Given the description of an element on the screen output the (x, y) to click on. 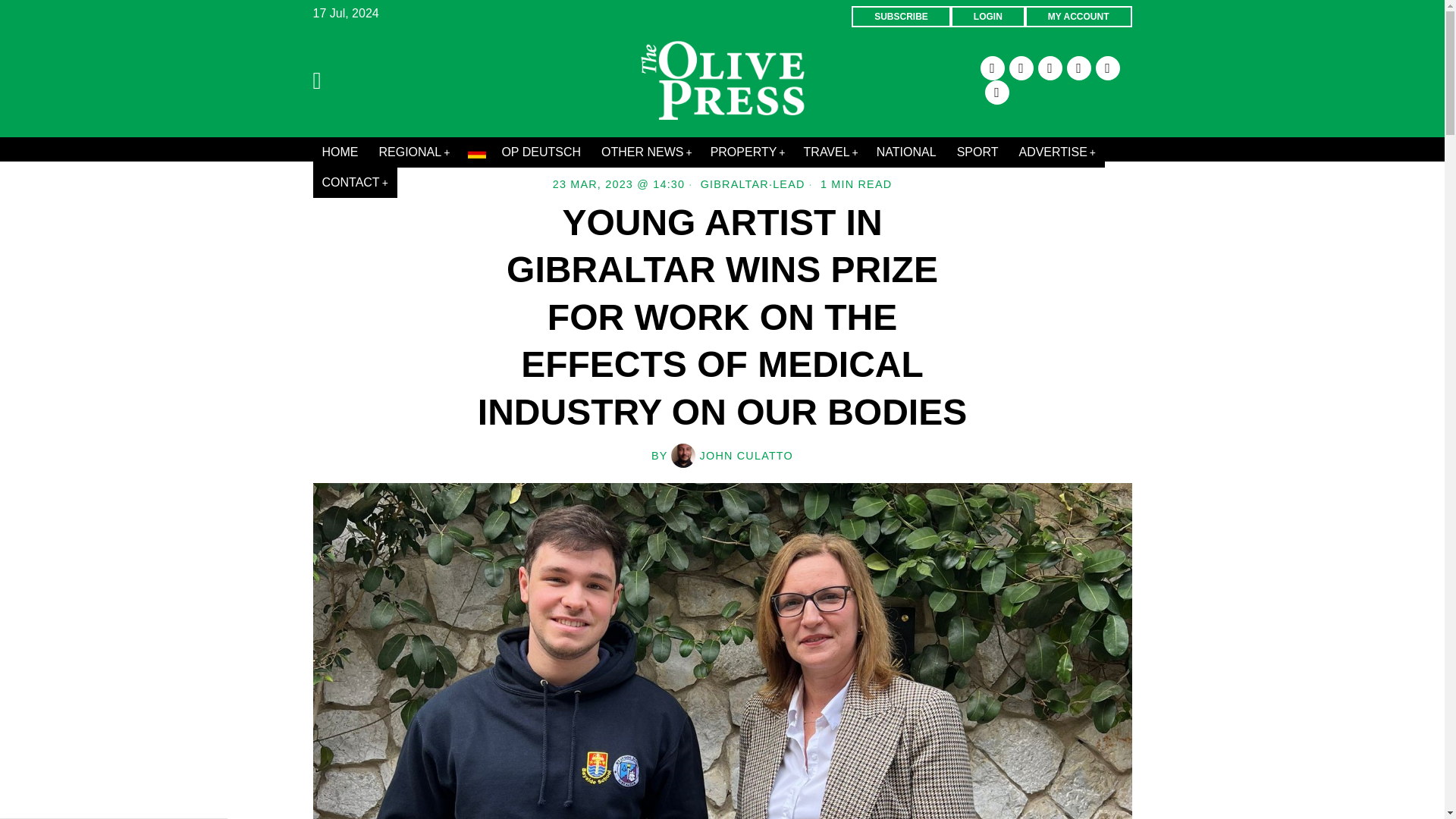
LOGIN (987, 16)
OTHER NEWS (646, 152)
MY ACCOUNT (1078, 16)
OP DEUTSCH (525, 152)
SUBSCRIBE (900, 16)
HOME (341, 152)
REGIONAL (414, 152)
23 Mar, 2023 14:52:30 (619, 183)
